Given the description of an element on the screen output the (x, y) to click on. 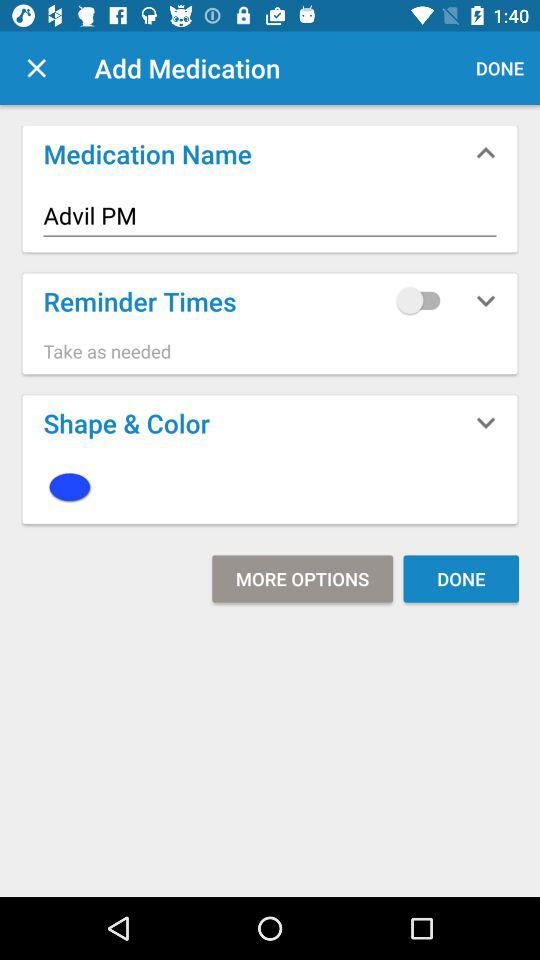
select take as needed item (269, 351)
